Given the description of an element on the screen output the (x, y) to click on. 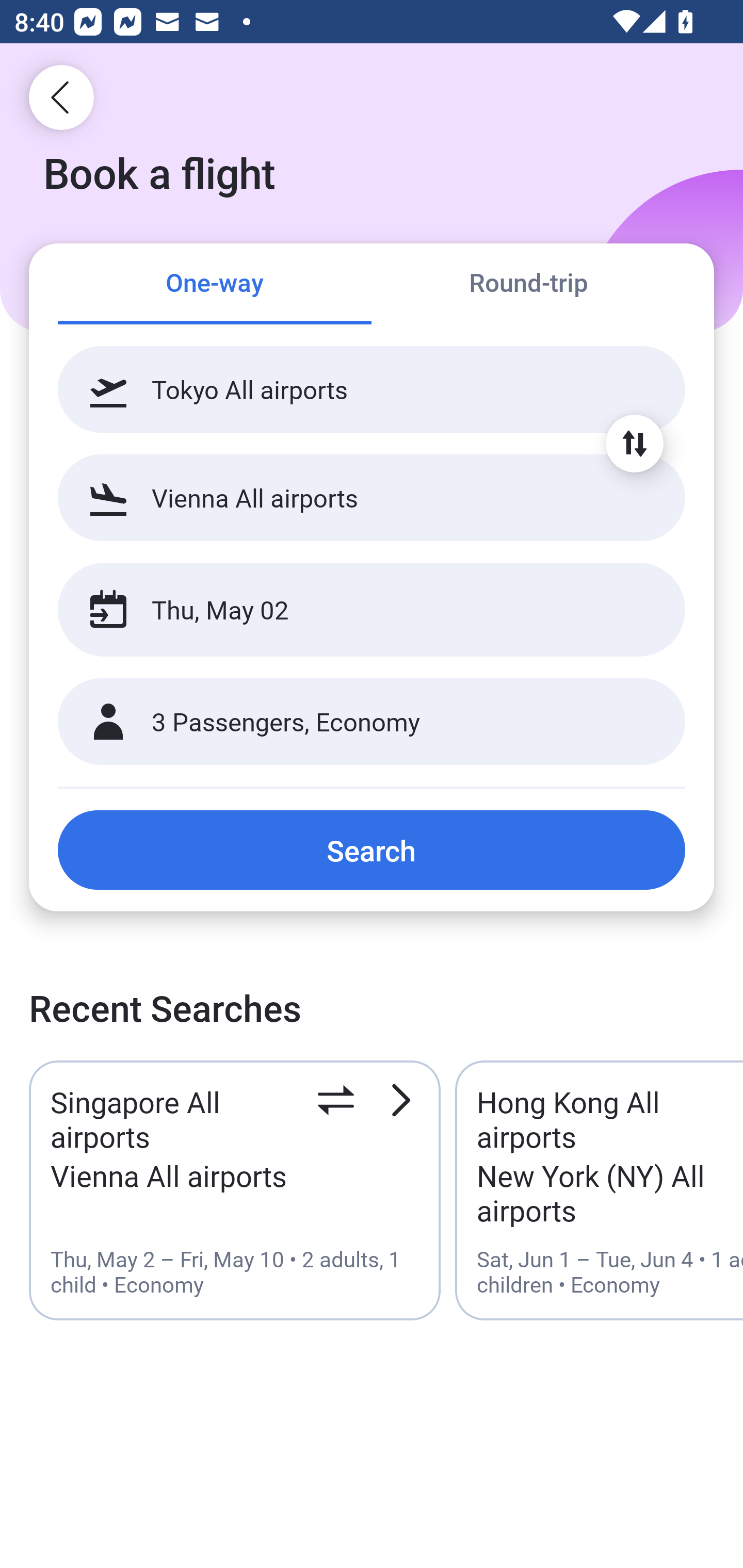
Round-trip (528, 284)
Tokyo All airports (371, 389)
Vienna All airports (371, 497)
Thu, May 02 (349, 609)
3 Passengers, Economy (371, 721)
Search (371, 849)
